Given the description of an element on the screen output the (x, y) to click on. 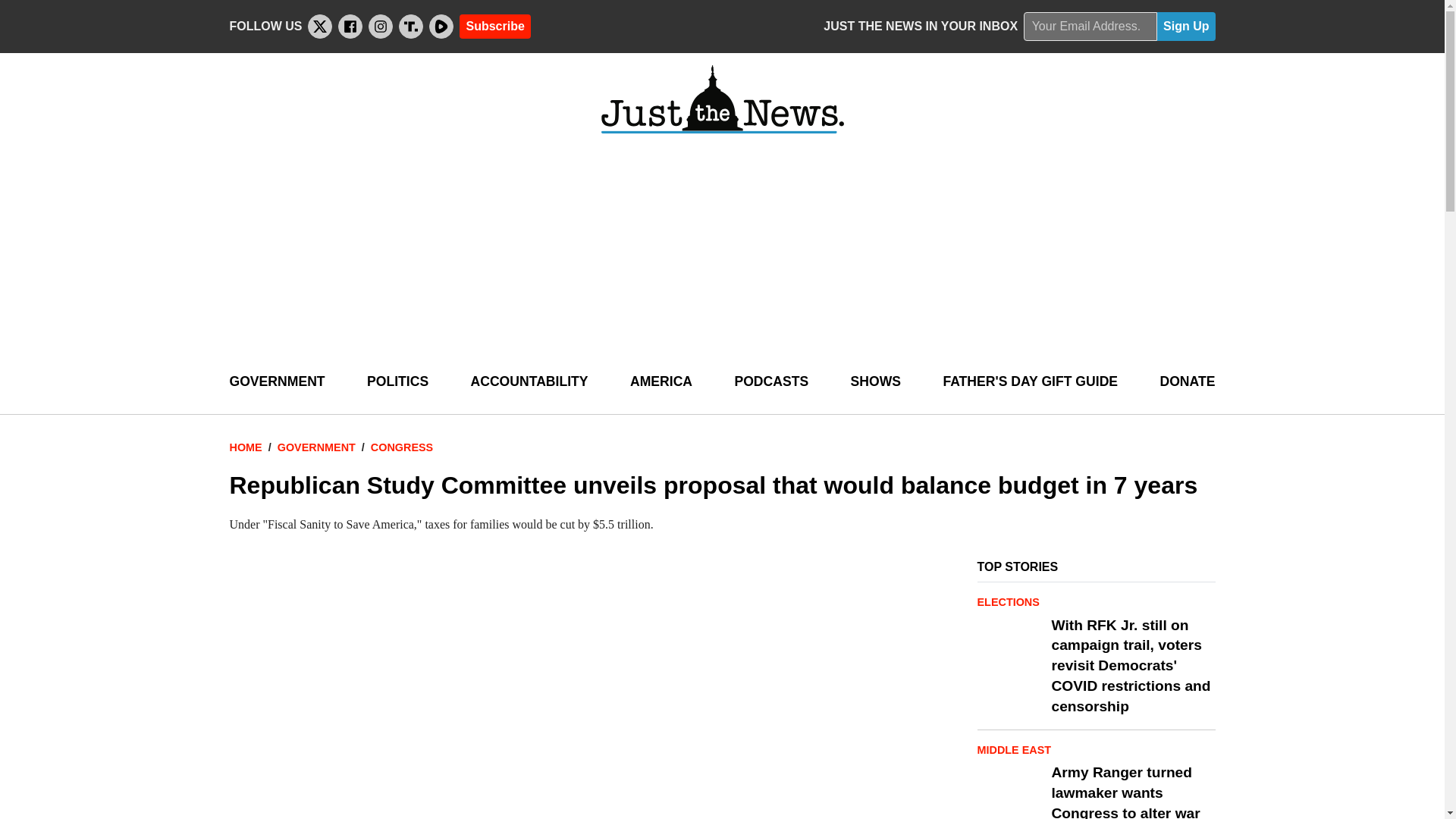
Sign Up (1185, 26)
GOVERNMENT (276, 381)
AMERICA (661, 381)
ACCOUNTABILITY (529, 381)
Sign Up (1185, 26)
PODCASTS (770, 381)
SHOWS (875, 381)
Subscribe (494, 26)
DONATE (1186, 381)
